Given the description of an element on the screen output the (x, y) to click on. 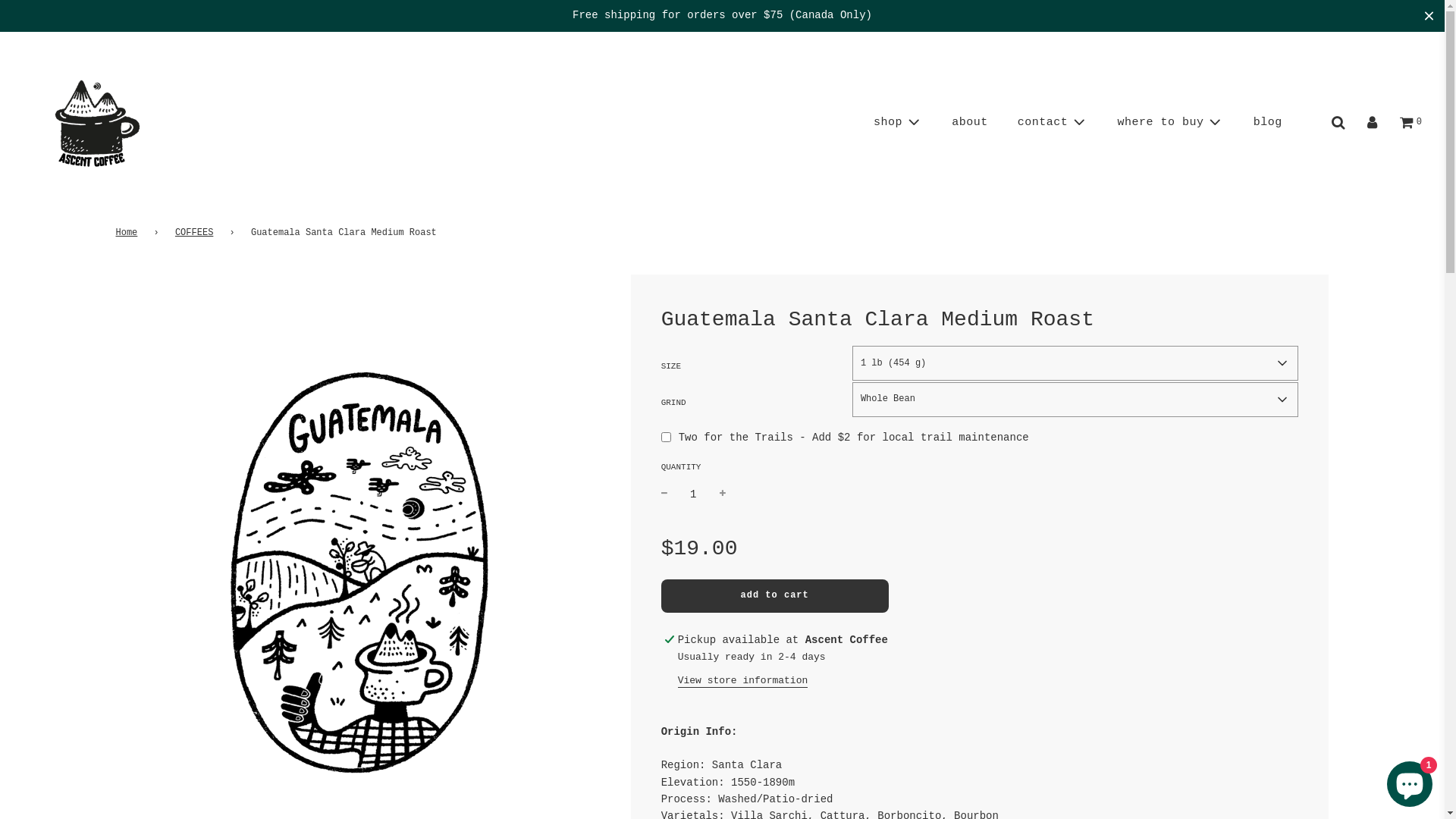
Home Element type: text (128, 232)
0 Element type: text (1410, 122)
View store information Element type: text (742, 680)
Whole Bean Element type: text (1075, 399)
blog Element type: text (1267, 122)
loading...
add to cart Element type: text (774, 595)
about Element type: text (969, 122)
1 lb (454 g) Element type: text (1075, 362)
where to buy Element type: text (1169, 122)
Log in Element type: hover (1372, 122)
shop Element type: text (897, 122)
COFFEES Element type: text (196, 232)
contact Element type: text (1052, 122)
Shopify online store chat Element type: hover (1409, 780)
